Given the description of an element on the screen output the (x, y) to click on. 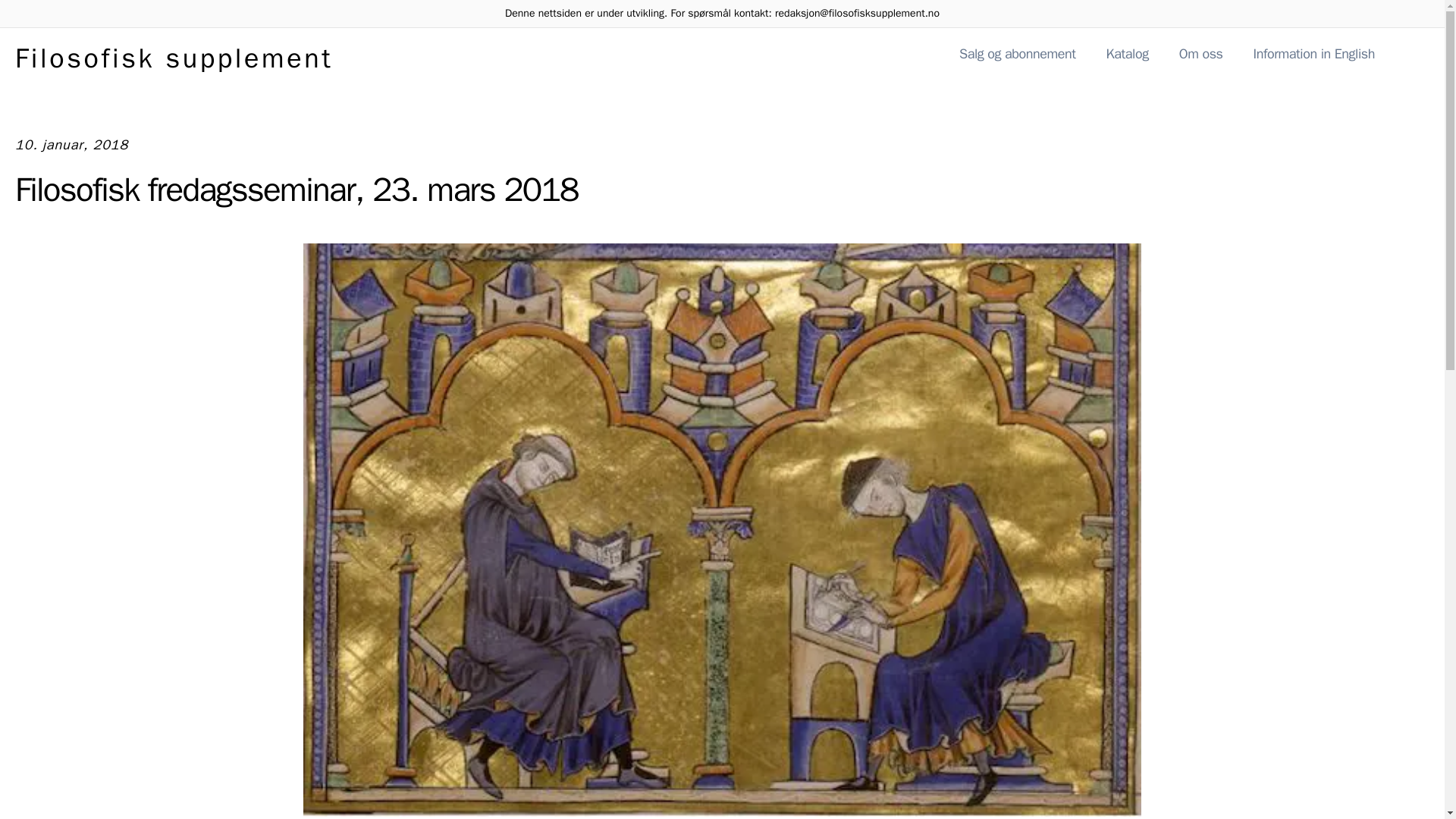
Information in English (1313, 53)
Filosofisk supplement (173, 58)
Information in English (1313, 58)
Salg og abonnement (1017, 53)
Om oss (1201, 58)
Om oss (1201, 53)
Salg og abonnement (1017, 58)
Katalog (1127, 53)
Katalog (1127, 58)
